Given the description of an element on the screen output the (x, y) to click on. 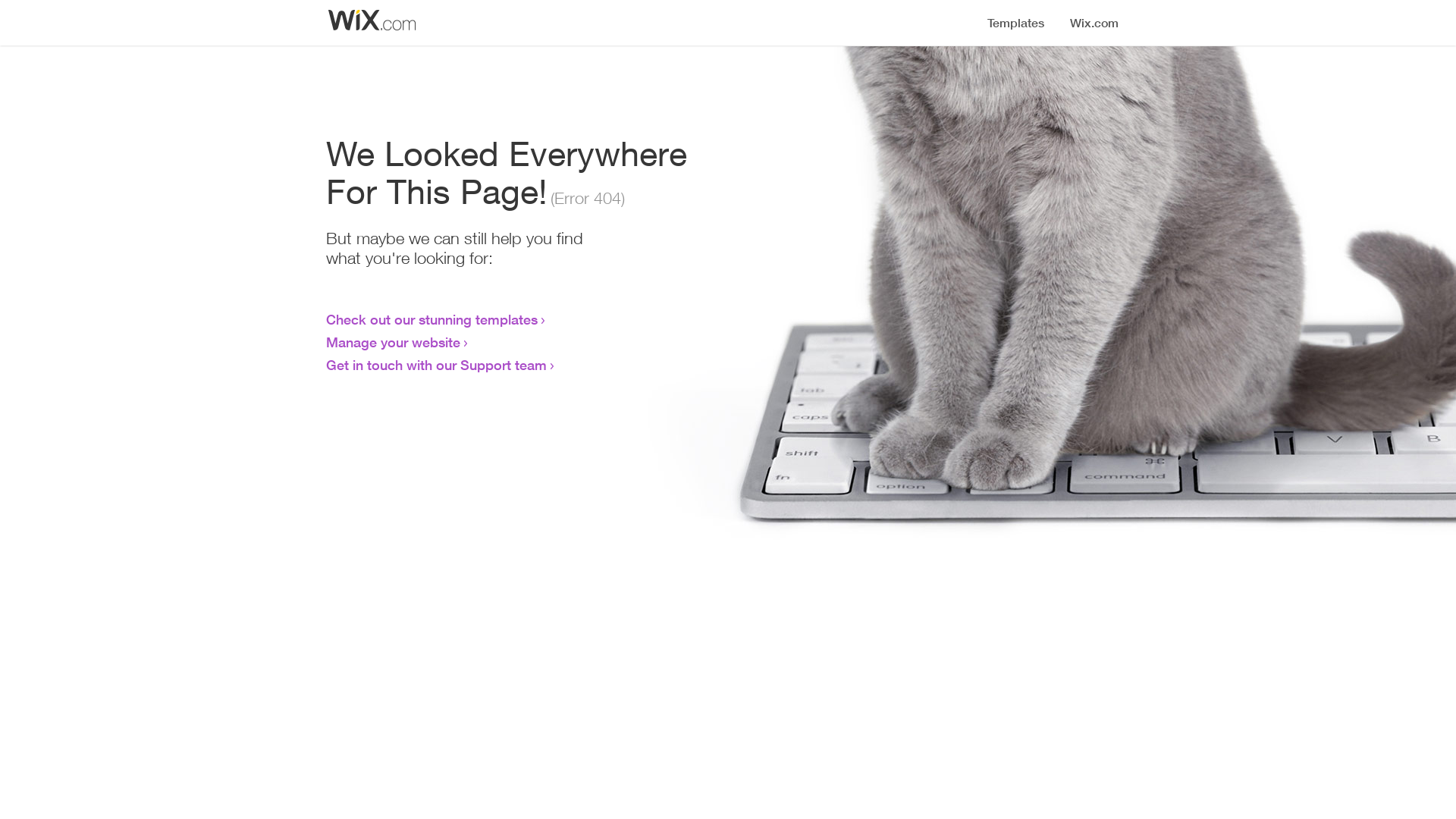
Get in touch with our Support team Element type: text (436, 364)
Check out our stunning templates Element type: text (431, 318)
Manage your website Element type: text (393, 341)
